Given the description of an element on the screen output the (x, y) to click on. 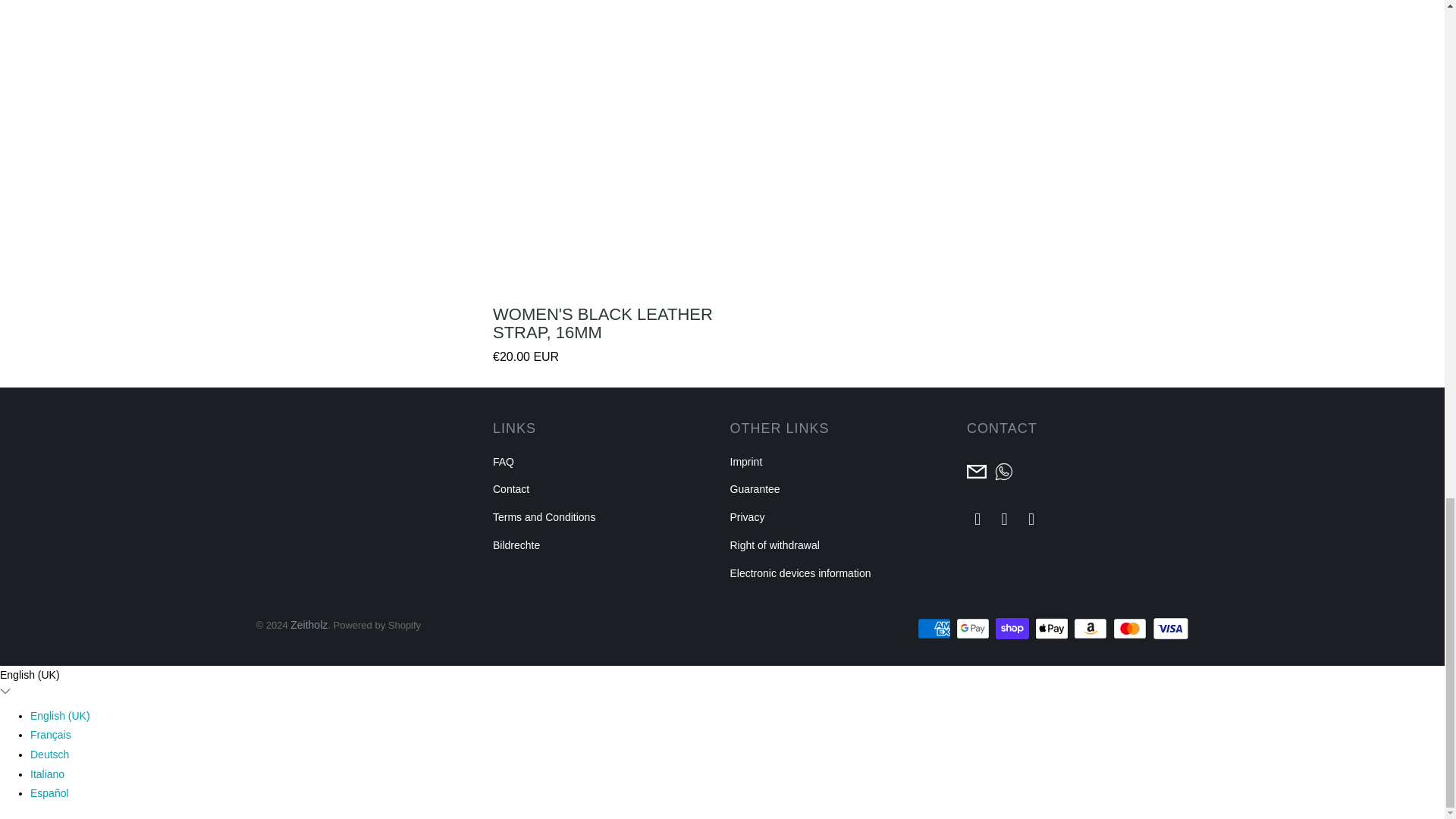
American Express (935, 628)
Amazon (1091, 628)
Mastercard (1131, 628)
Visa (1171, 628)
Zeitholz  on YouTube (1004, 519)
Zeitholz  on Facebook (978, 519)
Apple Pay (1053, 628)
Shop Pay (1013, 628)
Zeitholz  on Instagram (1031, 519)
Google Pay (974, 628)
